Given the description of an element on the screen output the (x, y) to click on. 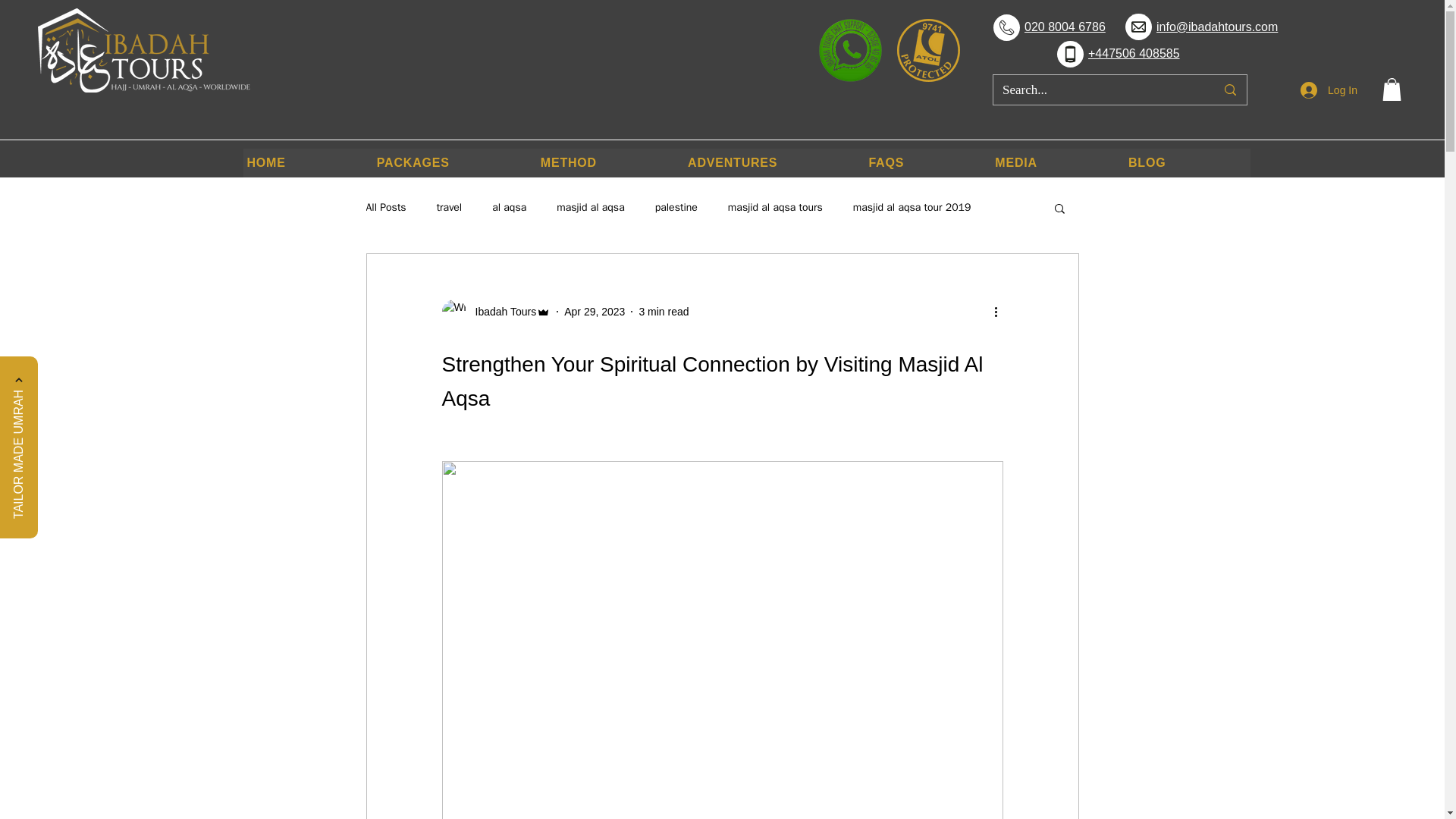
Ibadah Tours (500, 311)
PACKAGES (453, 162)
MEDIA (1056, 162)
020 8004 6786 (1065, 26)
HOME (306, 162)
Apr 29, 2023 (594, 311)
Log In (1329, 90)
3 min read (663, 311)
